Given the description of an element on the screen output the (x, y) to click on. 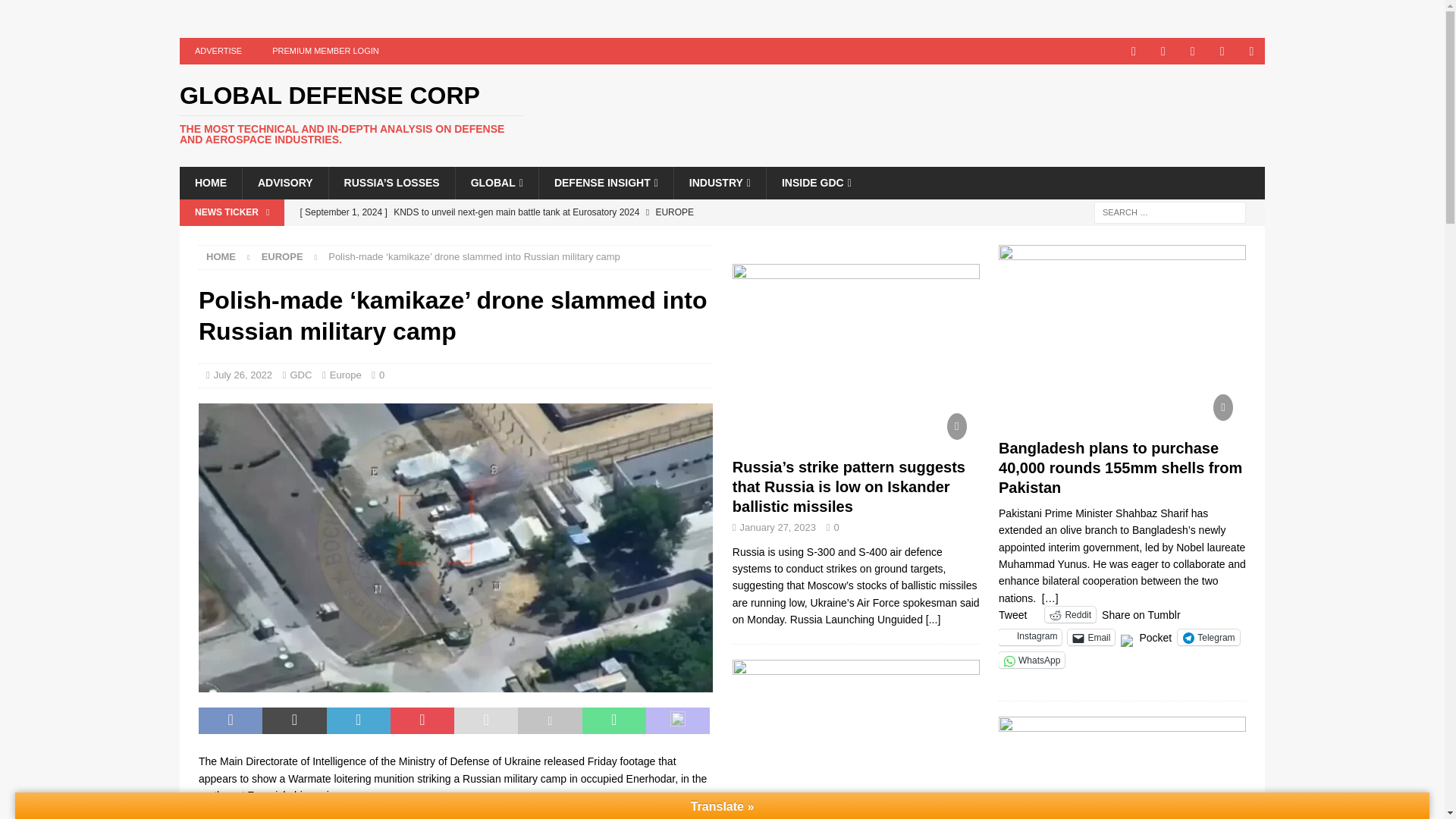
KNDS to unveil next-gen main battle tank at Eurosatory 2024 (589, 212)
ADVERTISE (218, 50)
INSIDE GDC (815, 183)
Europe (282, 256)
ADVISORY (285, 183)
Share on Facebook (230, 720)
Share on LinkedIn (358, 720)
HOME (210, 183)
